Given the description of an element on the screen output the (x, y) to click on. 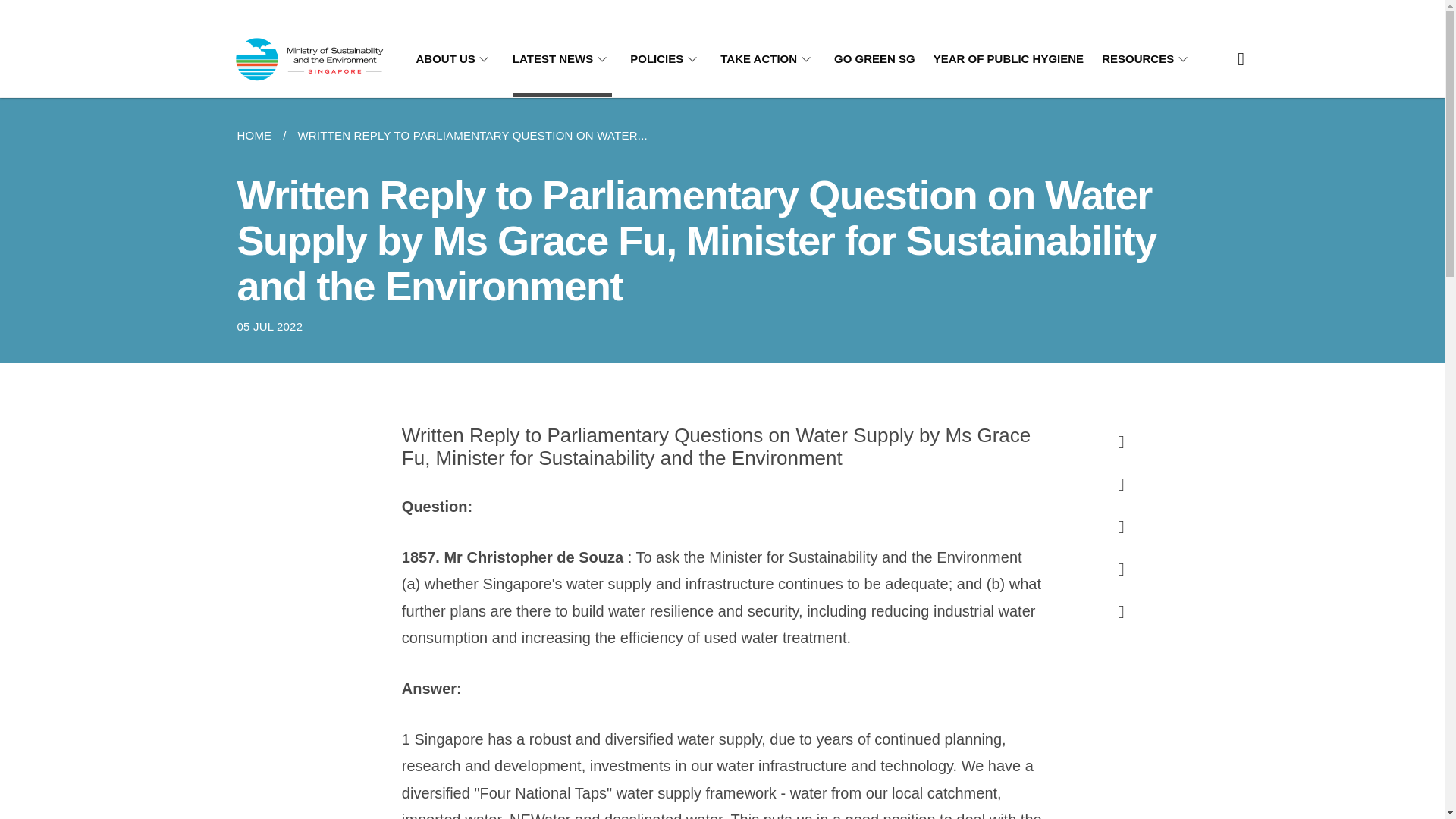
TAKE ACTION (767, 59)
LATEST NEWS (561, 59)
POLICIES (665, 59)
YEAR OF PUBLIC HYGIENE (1008, 59)
RESOURCES (1147, 59)
ABOUT US (453, 59)
GO GREEN SG (874, 59)
